Given the description of an element on the screen output the (x, y) to click on. 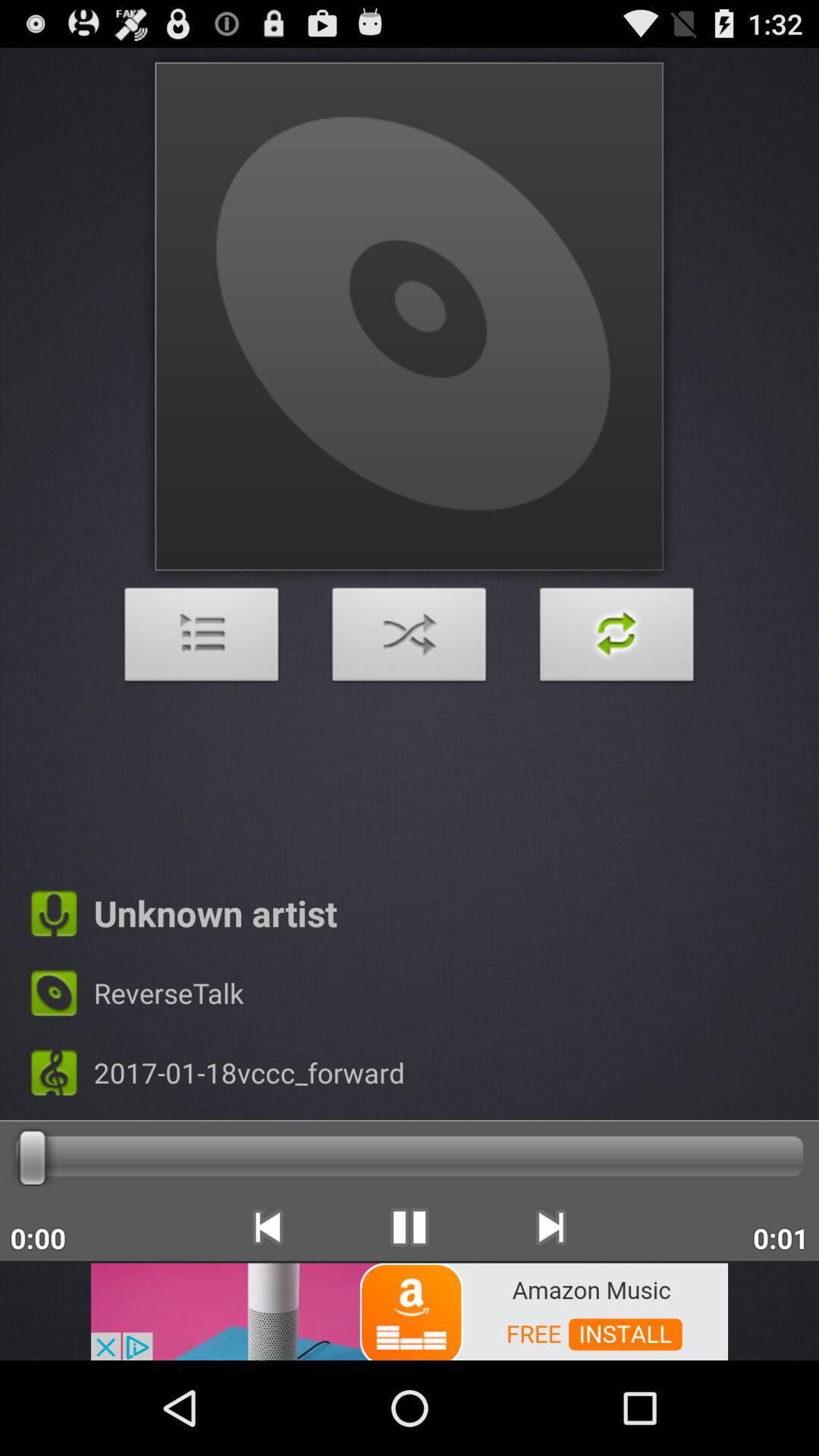
go to advertisement with amazon music (409, 1310)
